Given the description of an element on the screen output the (x, y) to click on. 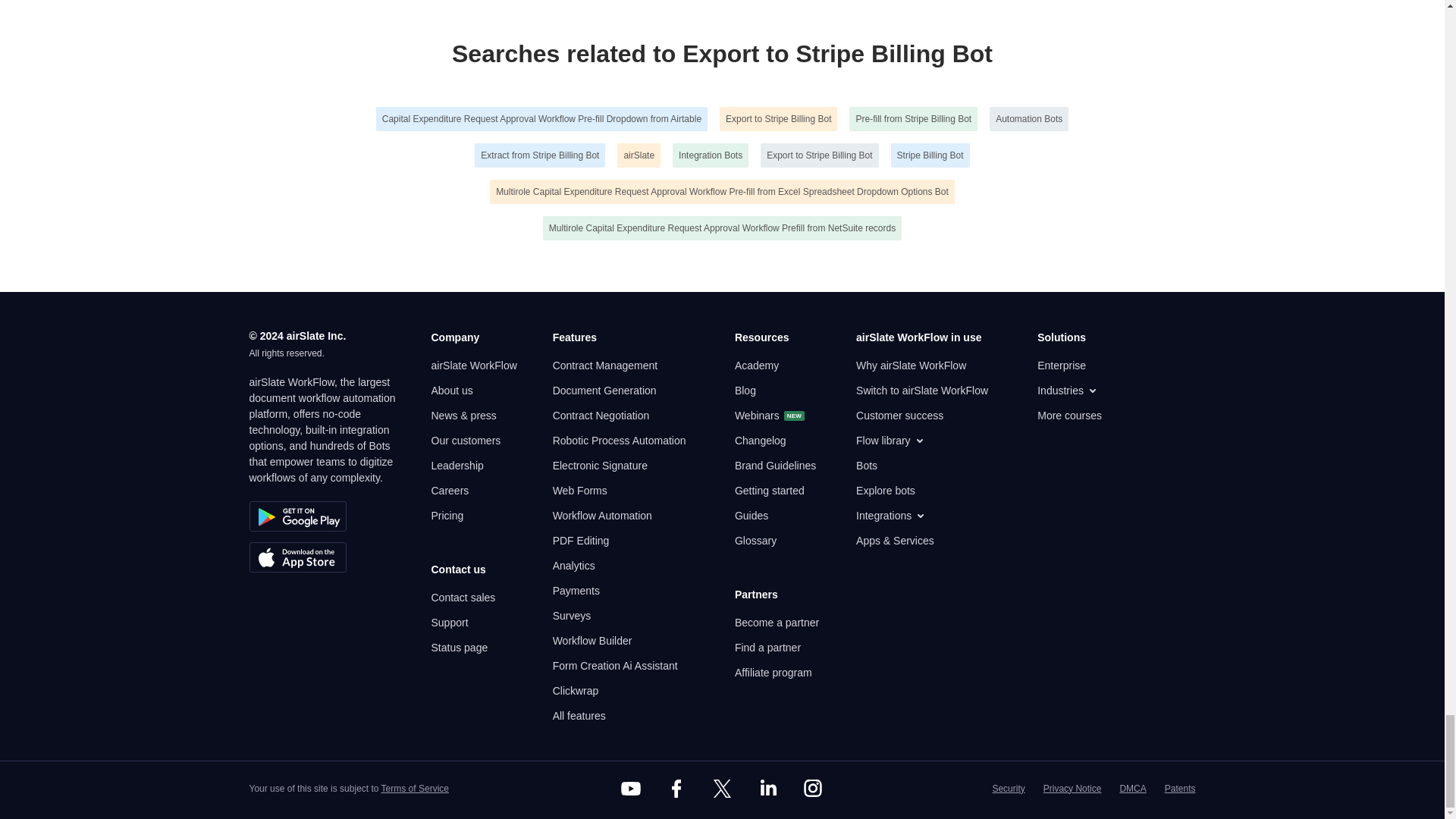
LinkedIn (767, 788)
YouTube (630, 788)
Instagram (812, 788)
Facebook (676, 788)
Twitter (721, 788)
